Given the description of an element on the screen output the (x, y) to click on. 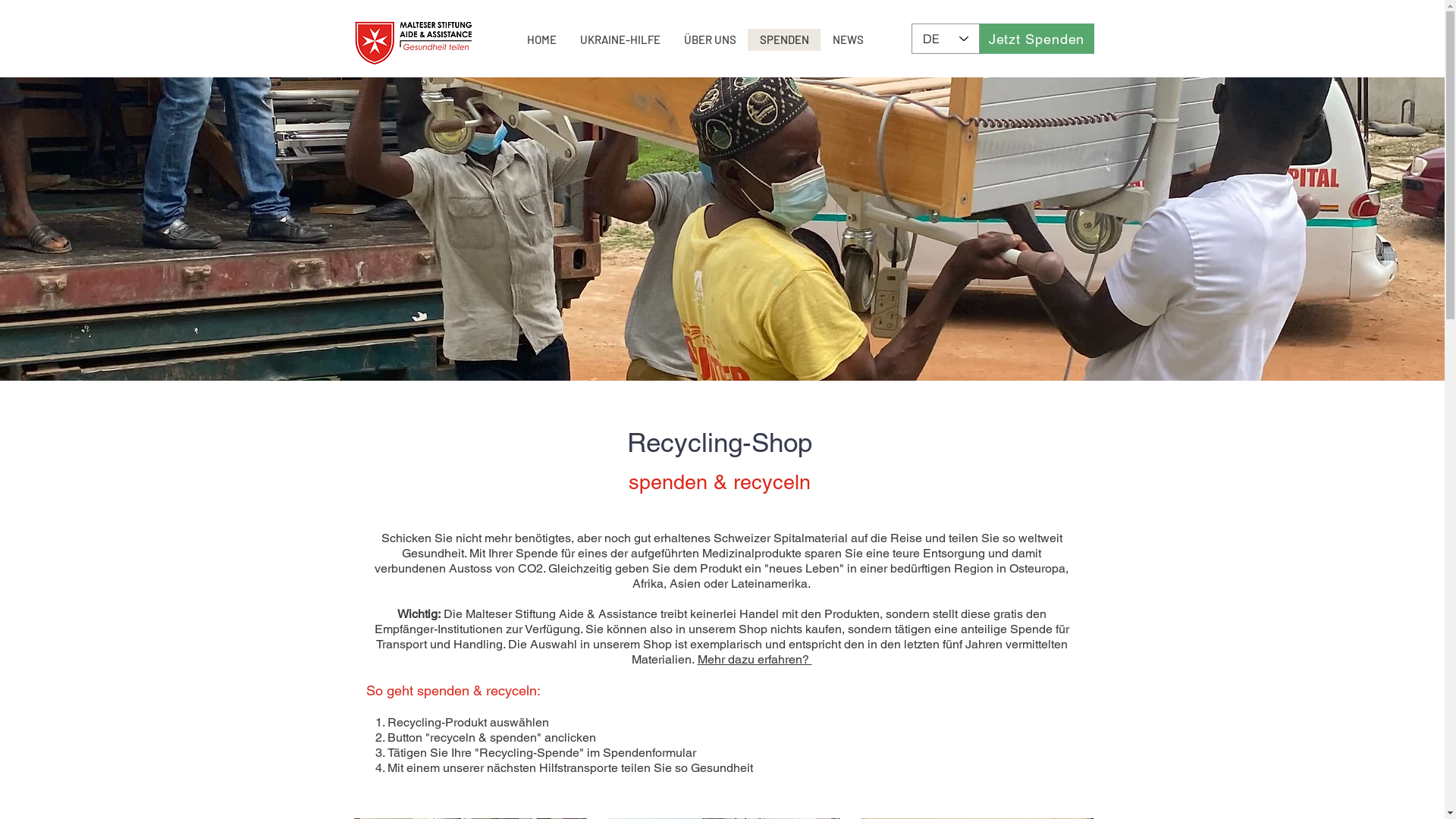
Jetzt Spenden Element type: text (1036, 38)
NEWS Element type: text (847, 39)
HOME Element type: text (540, 39)
SPENDEN Element type: text (783, 39)
UKRAINE-HILFE Element type: text (619, 39)
Mehr dazu erfahren?  Element type: text (754, 658)
